Given the description of an element on the screen output the (x, y) to click on. 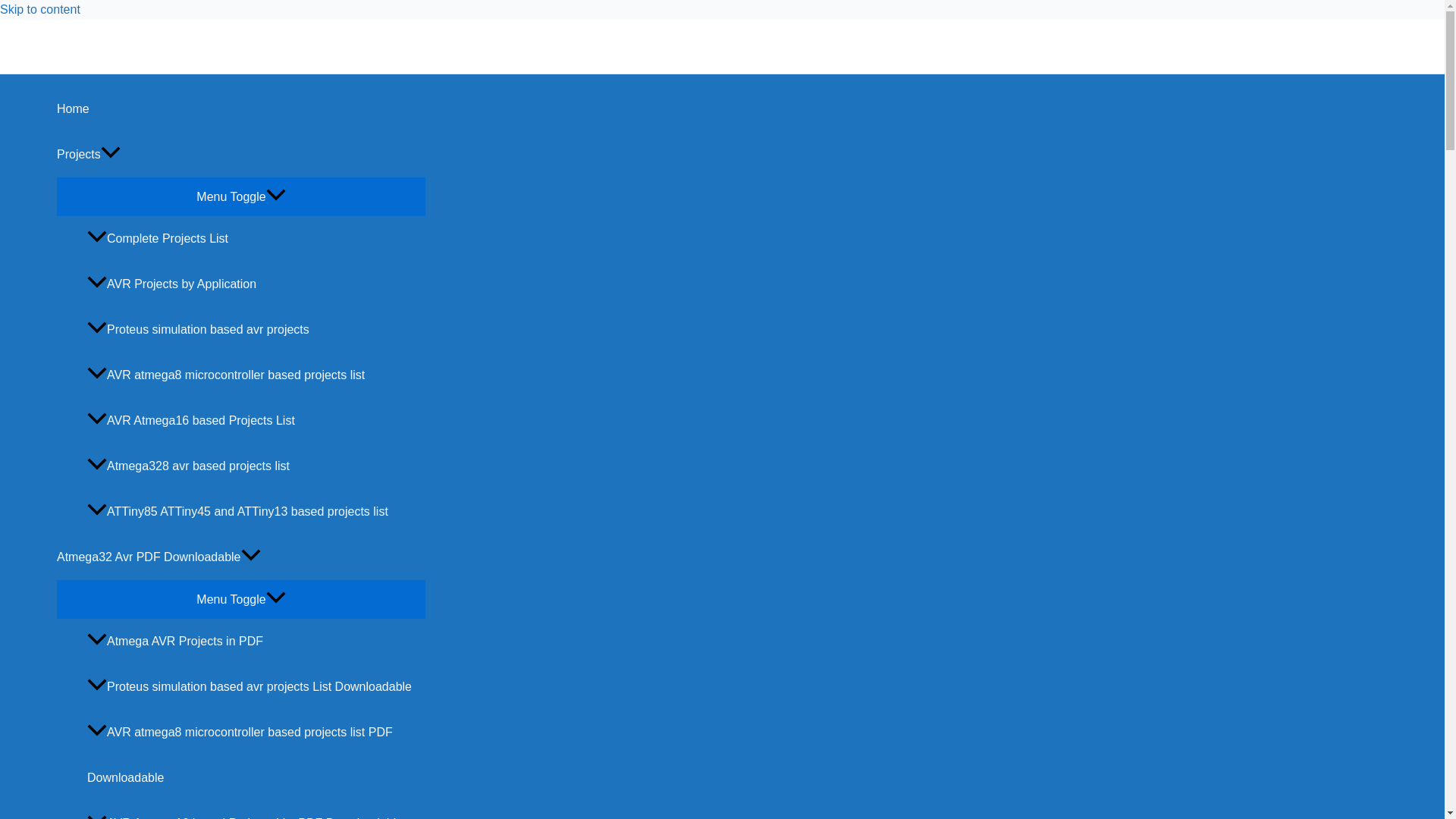
Projects (240, 154)
Proteus simulation based avr projects List Downloadable (256, 687)
Proteus simulation based avr projects (256, 329)
Atmega AVR Projects in PDF (256, 641)
Complete Projects List On Single Page (256, 238)
Menu Toggle (240, 195)
Skip to content (40, 9)
AVR atmega8 microcontroller based projects list (256, 375)
Menu Toggle (240, 598)
Home (240, 108)
AVR Atmega16 based Projects List PDF Downloadable (256, 809)
AVR Projects by Application (256, 284)
Skip to content (40, 9)
Atmega328 avr based projects list (256, 465)
Complete Projects List (256, 238)
